Given the description of an element on the screen output the (x, y) to click on. 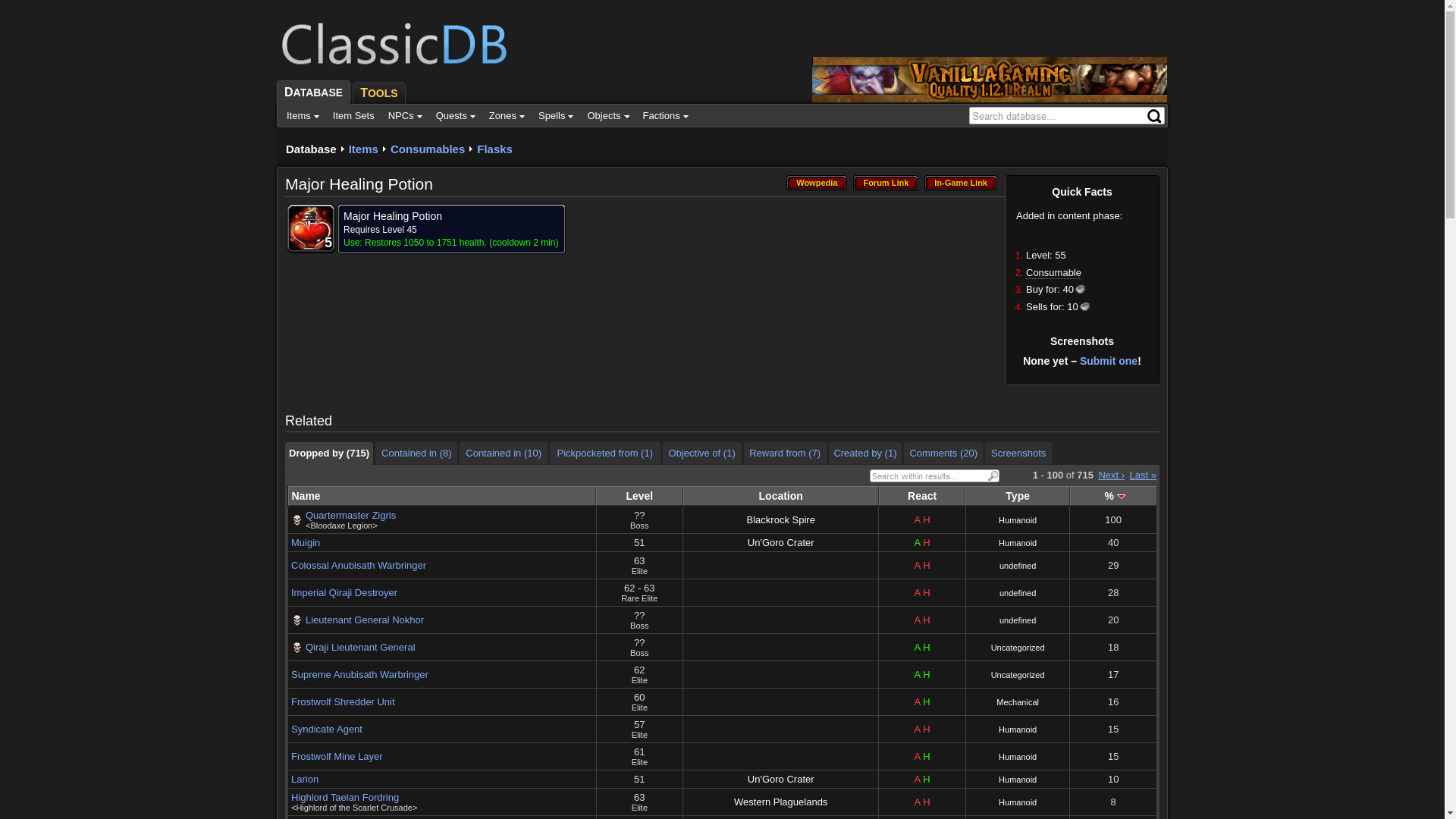
Humanoid Element type: text (1017, 729)
Submit one Element type: text (1108, 360)
% Element type: text (1113, 495)
Highlord Taelan Fordring Element type: text (344, 797)
Dropped by (715) Element type: text (329, 453)
Name Element type: text (441, 495)
Western Plaguelands Element type: text (780, 801)
In-Game Link
In-Game Link Element type: text (960, 183)
Mechanical Element type: text (1017, 701)
Blackrock Spire Element type: text (780, 519)
Location Element type: text (781, 495)
Humanoid Element type: text (1017, 801)
Humanoid Element type: text (1017, 756)
Contained in (8) Element type: text (416, 453)
Reward from (7) Element type: text (784, 453)
Humanoid Element type: text (1017, 519)
Uncategorized Element type: text (1017, 647)
Database Element type: text (310, 148)
Items Element type: text (302, 115)
Items Element type: text (363, 148)
Contained in (10) Element type: text (502, 453)
Restores 1050 to 1751 health. Element type: text (425, 242)
Spells Element type: text (555, 115)
Item Sets Element type: text (353, 115)
Quests Element type: text (455, 115)
Created by (1) Element type: text (865, 453)
Comments (20) Element type: text (942, 453)
Muigin Element type: text (305, 542)
undefined Element type: text (1017, 619)
Lieutenant General Nokhor Element type: text (364, 619)
Level Element type: text (639, 495)
Forum Link
Forum Link Element type: text (885, 183)
TOOLS Element type: text (377, 91)
Supreme Anubisath Warbringer Element type: text (359, 674)
NPCs Element type: text (405, 115)
Objects Element type: text (607, 115)
Un'Goro Crater Element type: text (780, 542)
Quartermaster Zigris Element type: text (350, 514)
Factions Element type: text (664, 115)
Zones Element type: text (506, 115)
React Element type: text (922, 495)
Flasks Element type: text (494, 148)
Pickpocketed from (1) Element type: text (604, 453)
Objective of (1) Element type: text (701, 453)
5
5
5
5
5
5
5
5
5 Element type: text (310, 228)
Un'Goro Crater Element type: text (780, 778)
Screenshots Element type: text (1018, 453)
undefined Element type: text (1017, 565)
undefined Element type: text (1017, 592)
Larion Element type: text (304, 778)
Consumables Element type: text (427, 148)
Colossal Anubisath Warbringer Element type: text (358, 565)
DATABASE Element type: text (312, 92)
Humanoid Element type: text (1017, 779)
Wowpedia
Wowpedia Element type: text (816, 183)
Humanoid Element type: text (1017, 542)
Imperial Qiraji Destroyer Element type: text (344, 592)
Syndicate Agent Element type: text (326, 728)
Uncategorized Element type: text (1017, 674)
Type Element type: text (1017, 495)
Frostwolf Mine Layer Element type: text (336, 756)
Frostwolf Shredder Unit Element type: text (343, 701)
Qiraji Lieutenant General Element type: text (360, 646)
